Given the description of an element on the screen output the (x, y) to click on. 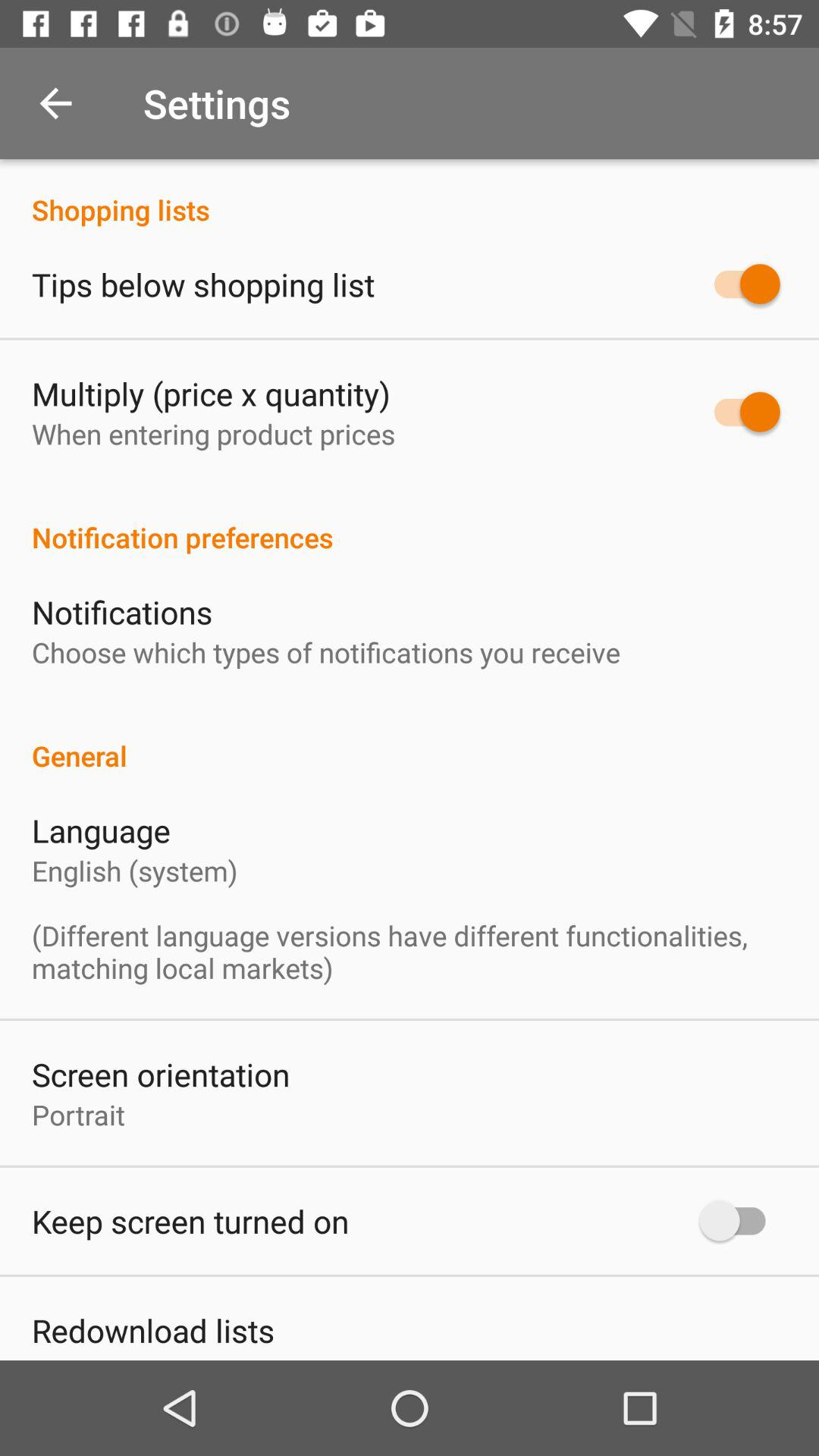
select the portrait icon (78, 1114)
